Given the description of an element on the screen output the (x, y) to click on. 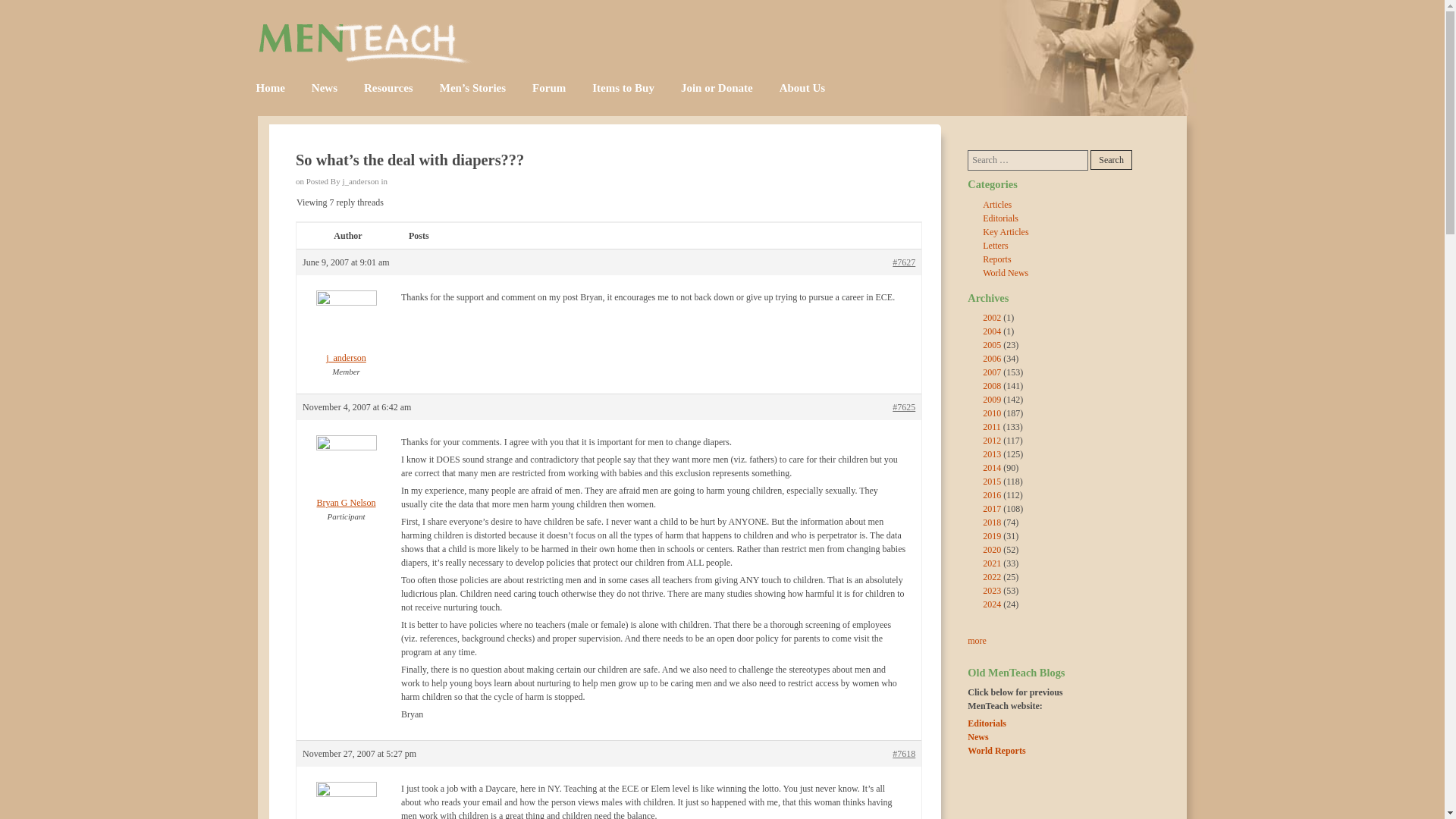
Gscalerajr (346, 810)
Items to Buy (622, 87)
Reports (996, 258)
Resources (388, 87)
World News (1004, 272)
View Gscalerajr's profile (346, 810)
2004 (991, 330)
Join or Donate (716, 87)
Articles (996, 204)
Search (1111, 159)
About Us (801, 87)
Key Articles (1004, 231)
2002 (991, 317)
Editorials (999, 217)
Search (1111, 159)
